Given the description of an element on the screen output the (x, y) to click on. 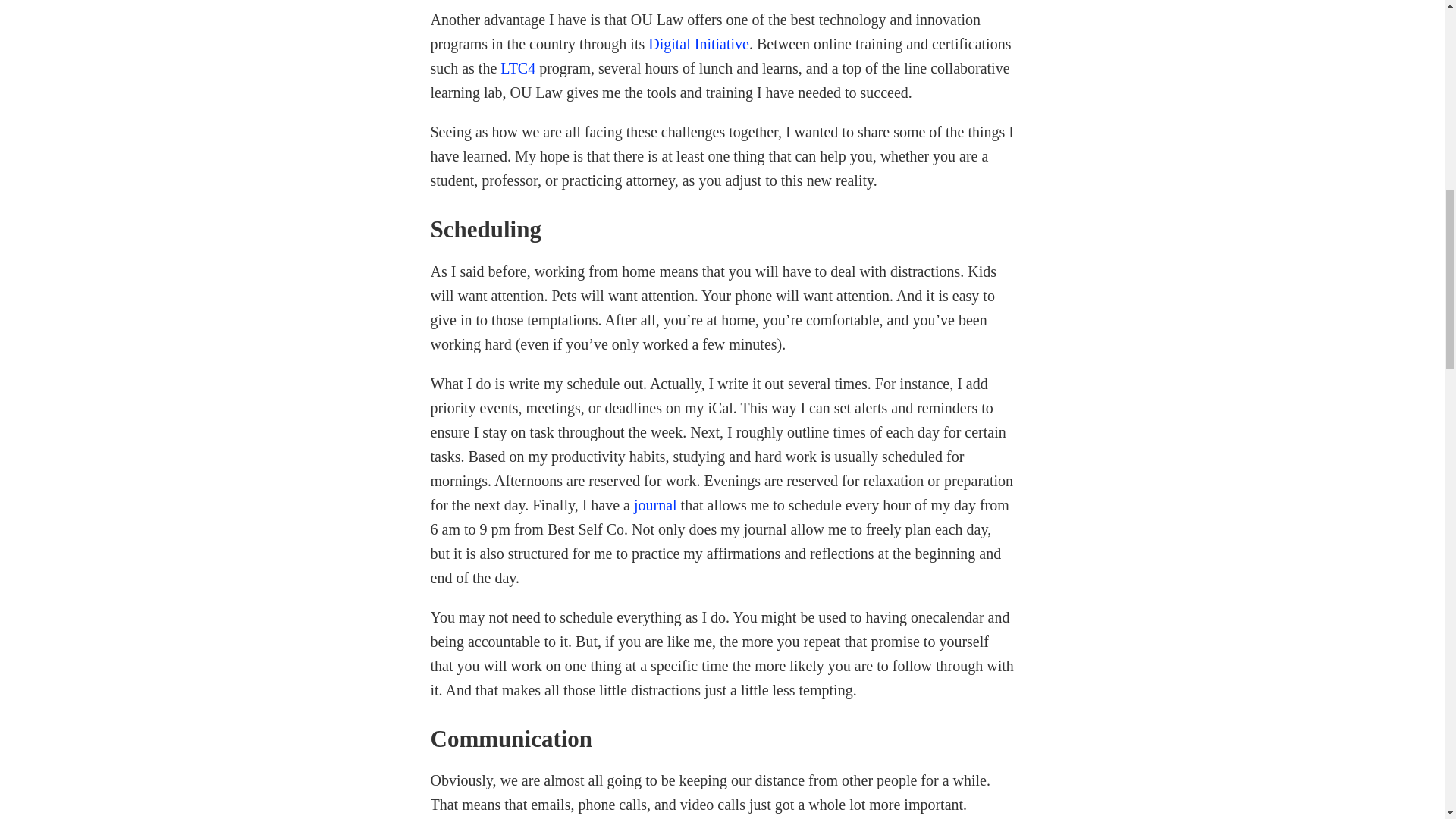
journal (655, 504)
LTC4 (517, 67)
Digital Initiative (698, 44)
